Given the description of an element on the screen output the (x, y) to click on. 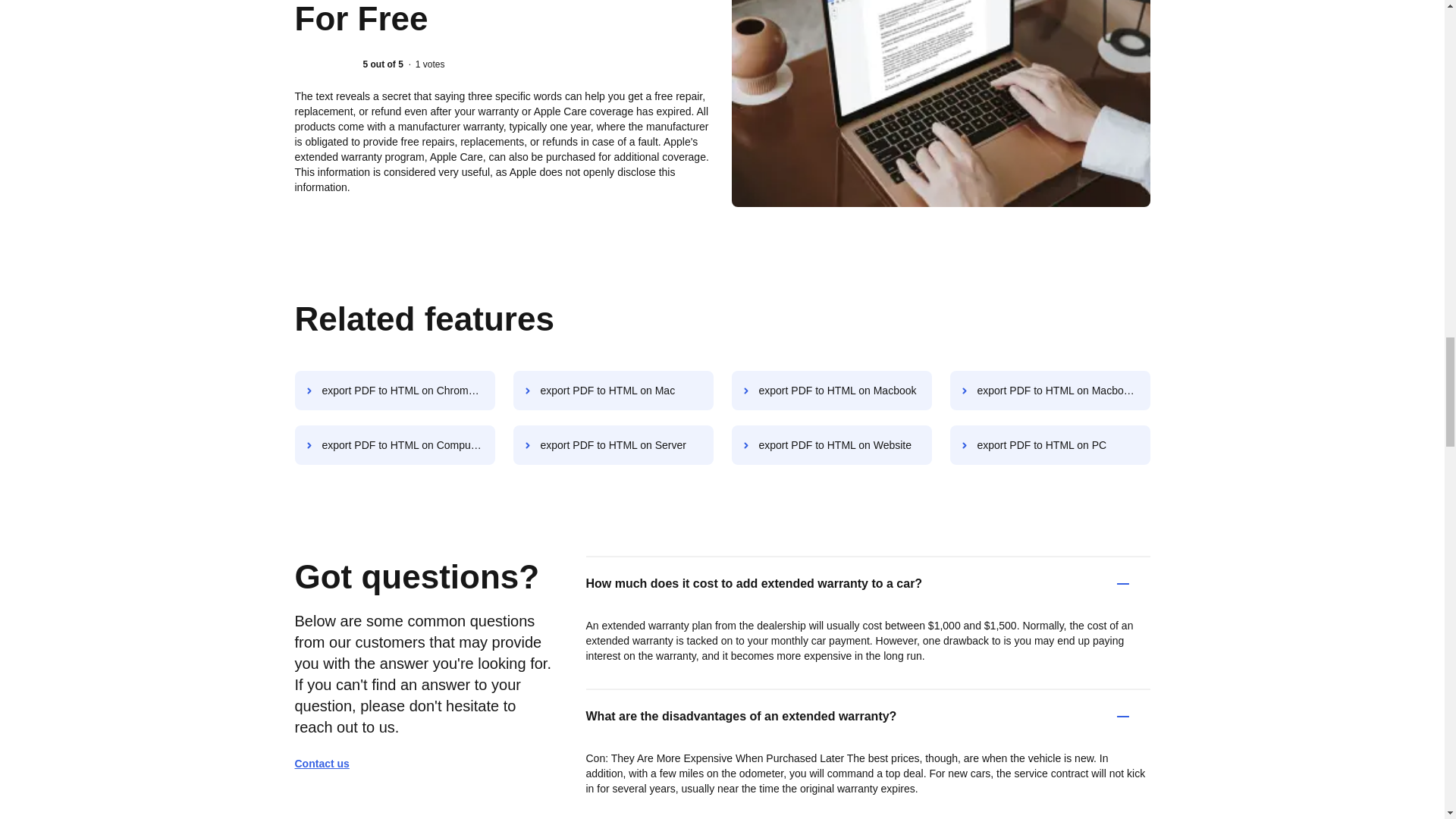
export PDF to HTML on PC (1049, 445)
export PDF to HTML on Chromebook (394, 390)
export PDF to HTML on Website (830, 445)
Contact us (328, 763)
export PDF to HTML on Server (612, 445)
export PDF to HTML on Computer (394, 445)
export PDF to HTML on Macbook (830, 390)
export PDF to HTML on Mac (612, 390)
export PDF to HTML on Macbook Pro (1049, 390)
